Given the description of an element on the screen output the (x, y) to click on. 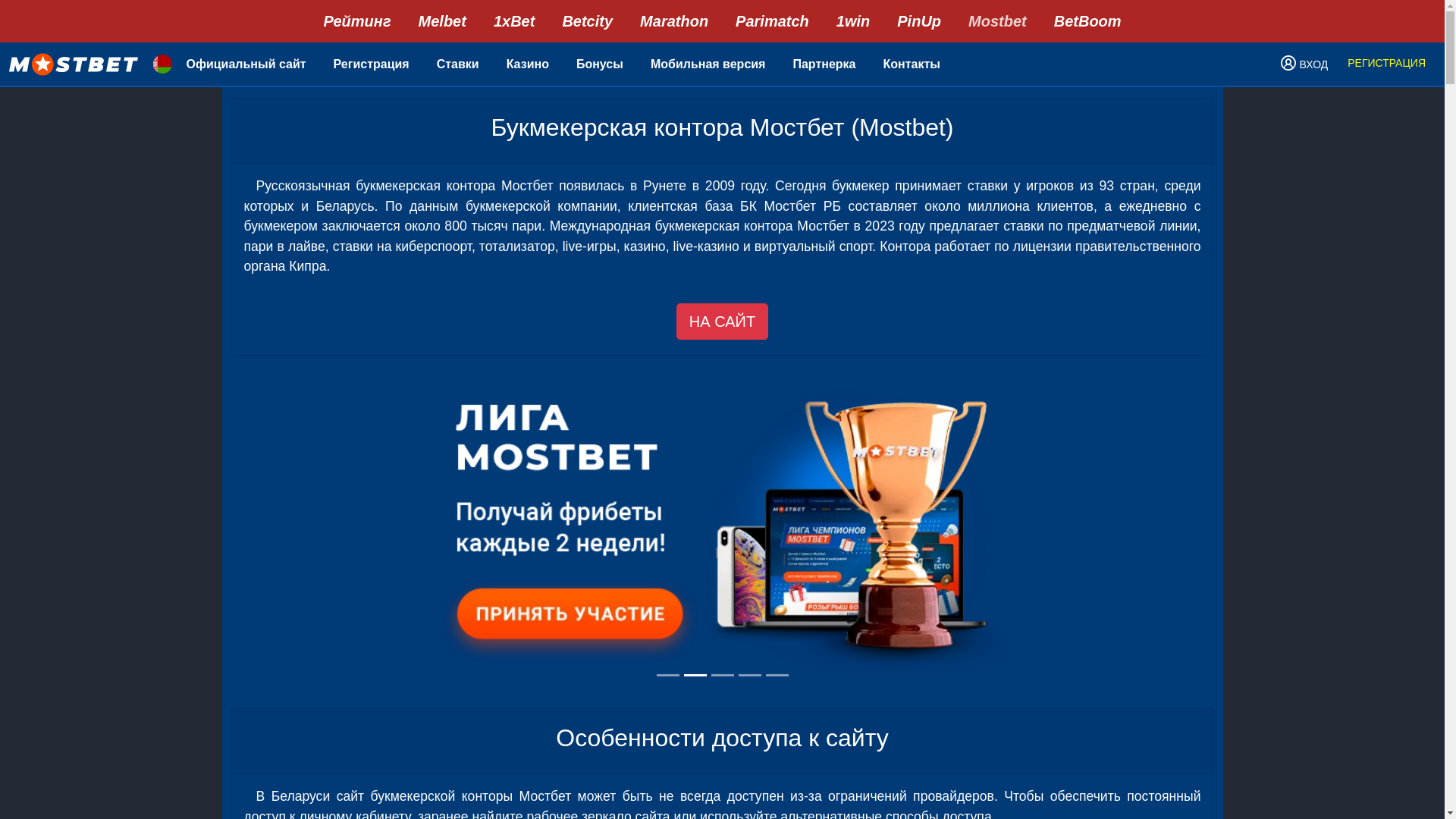
1win Element type: text (852, 21)
Betcity Element type: text (586, 21)
Melbet Element type: text (442, 21)
Parimatch Element type: text (772, 21)
PinUp Element type: text (919, 21)
Marathon Element type: text (673, 21)
1xBet Element type: text (513, 21)
Mostbet Element type: text (997, 21)
BetBoom Element type: text (1087, 21)
